Given the description of an element on the screen output the (x, y) to click on. 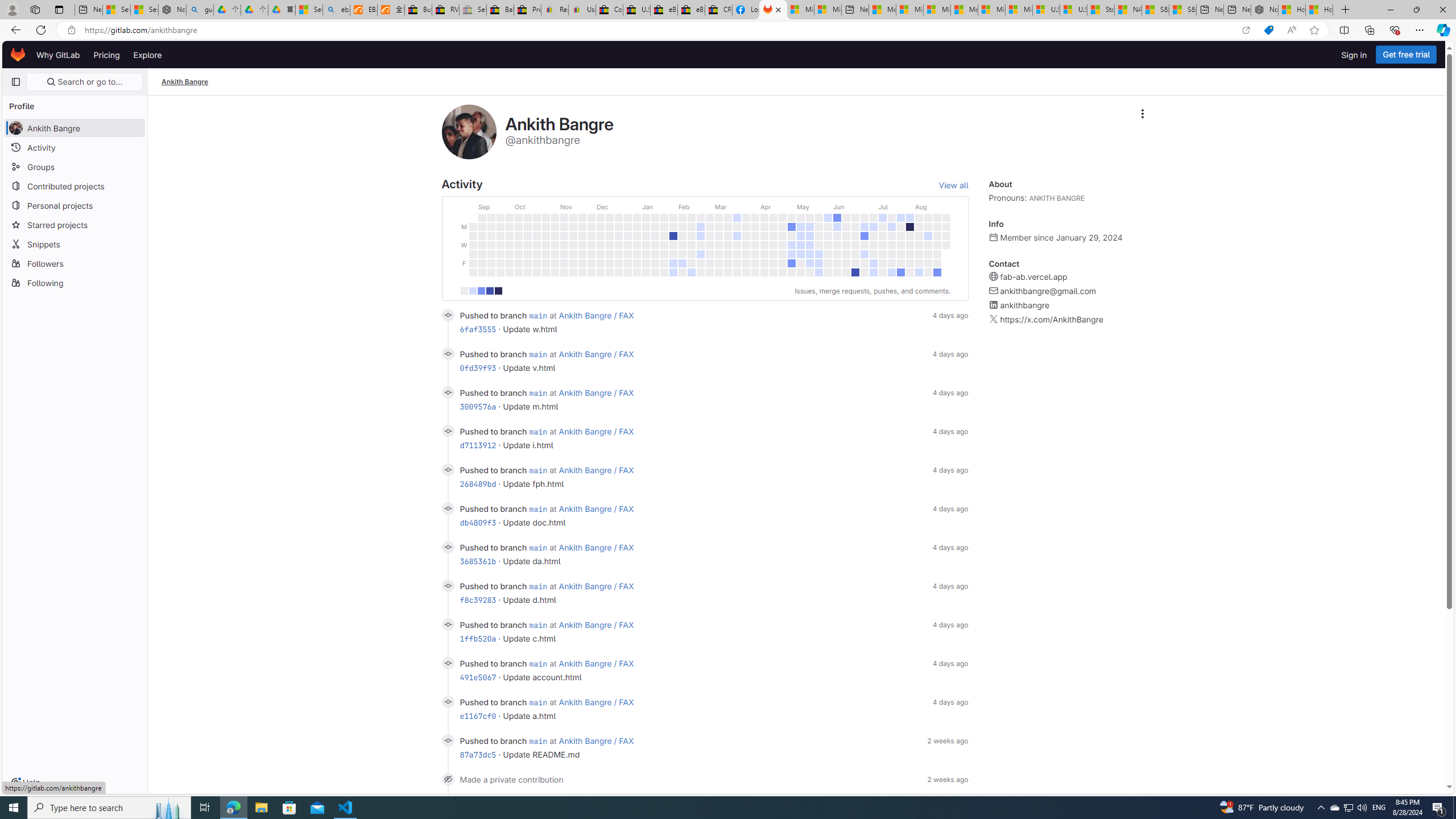
Activity (74, 147)
3009576a (478, 406)
